Given the description of an element on the screen output the (x, y) to click on. 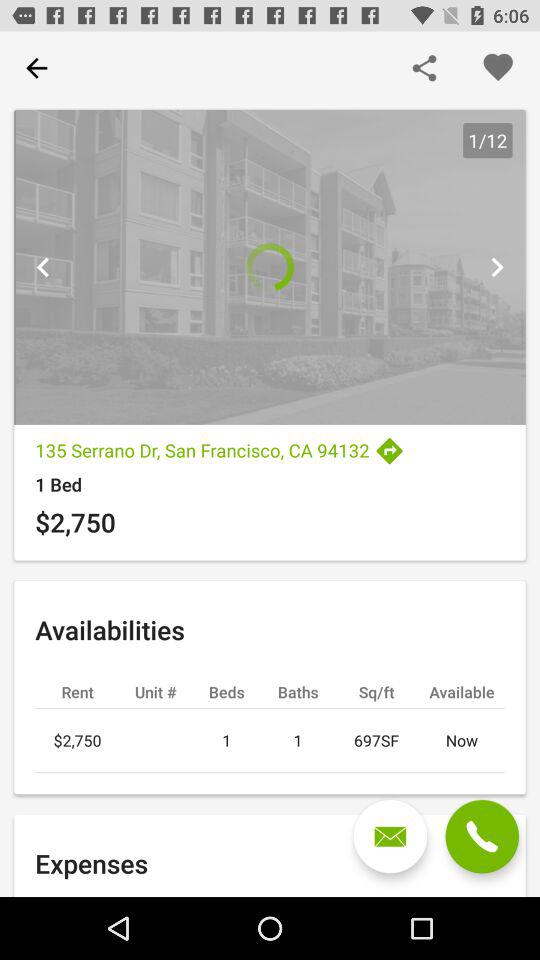
go back (43, 267)
